Given the description of an element on the screen output the (x, y) to click on. 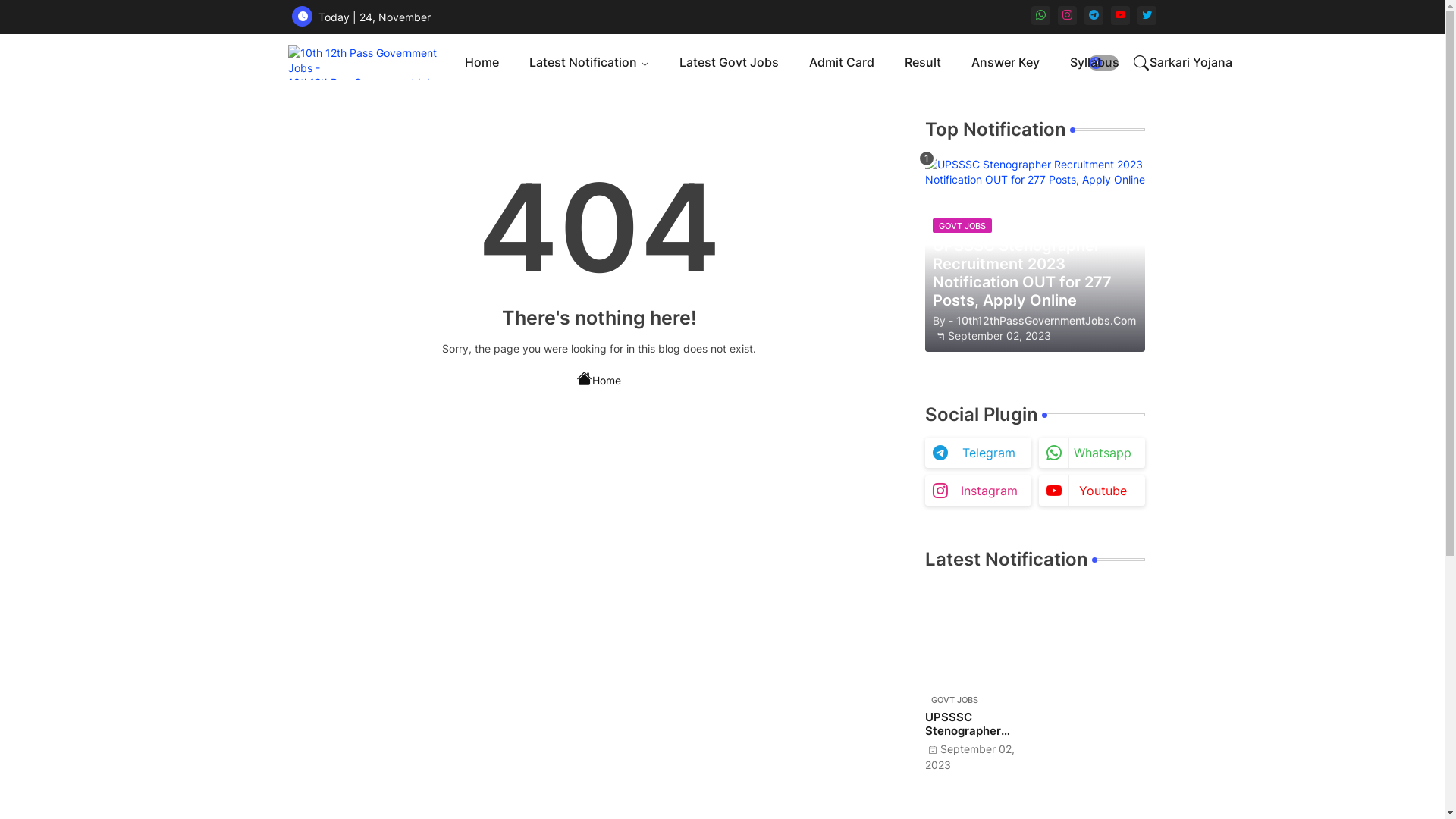
Answer Key Element type: text (1005, 62)
Result Element type: text (922, 62)
Sarkari Yojana Element type: text (1190, 62)
Home Element type: text (481, 62)
Latest Govt Jobs Element type: text (728, 62)
Home Element type: text (598, 375)
Whatsapp Element type: text (1091, 452)
Latest Notification Element type: text (589, 62)
Instagram Element type: text (978, 490)
Search Element type: hover (1141, 62)
Admit Card Element type: text (841, 62)
Syllabus Element type: text (1094, 62)
Youtube Element type: text (1091, 490)
Telegram Element type: text (978, 452)
